Given the description of an element on the screen output the (x, y) to click on. 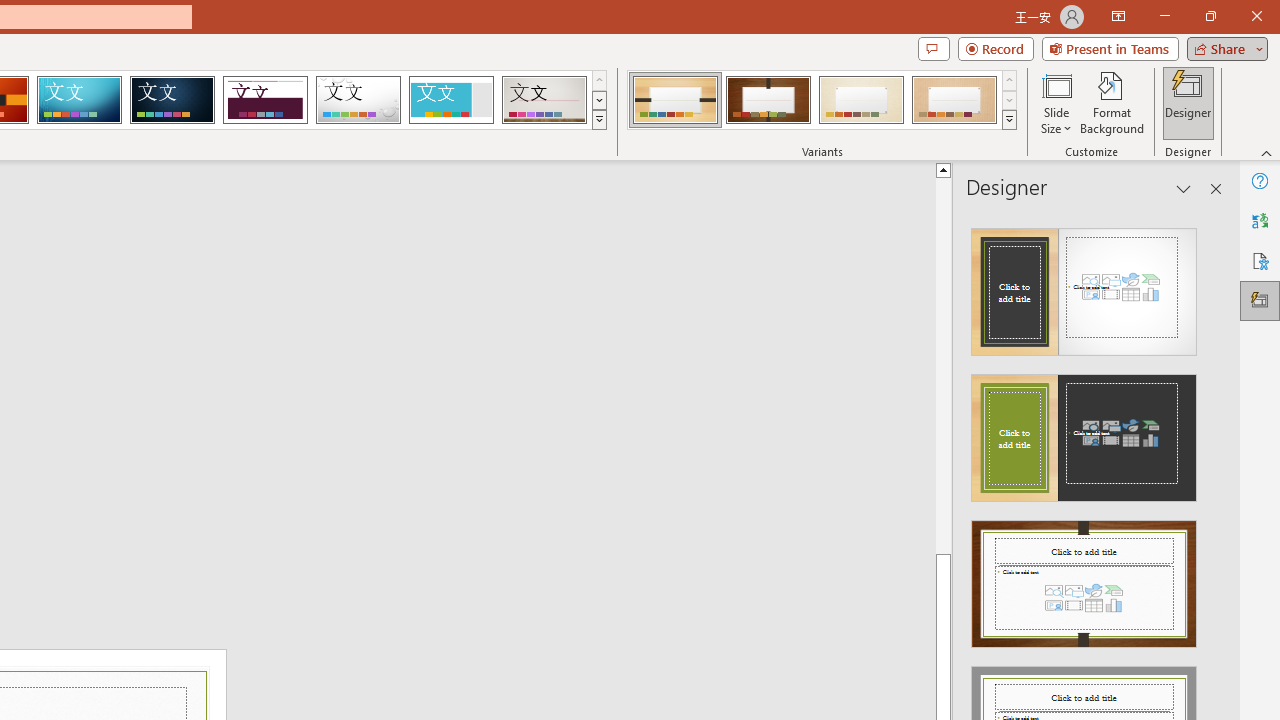
Organic Variant 4 (953, 100)
Variants (1009, 120)
Frame (450, 100)
Droplet (358, 100)
Dividend (265, 100)
Recommended Design: Design Idea (1083, 286)
Slide Size (1056, 102)
